Given the description of an element on the screen output the (x, y) to click on. 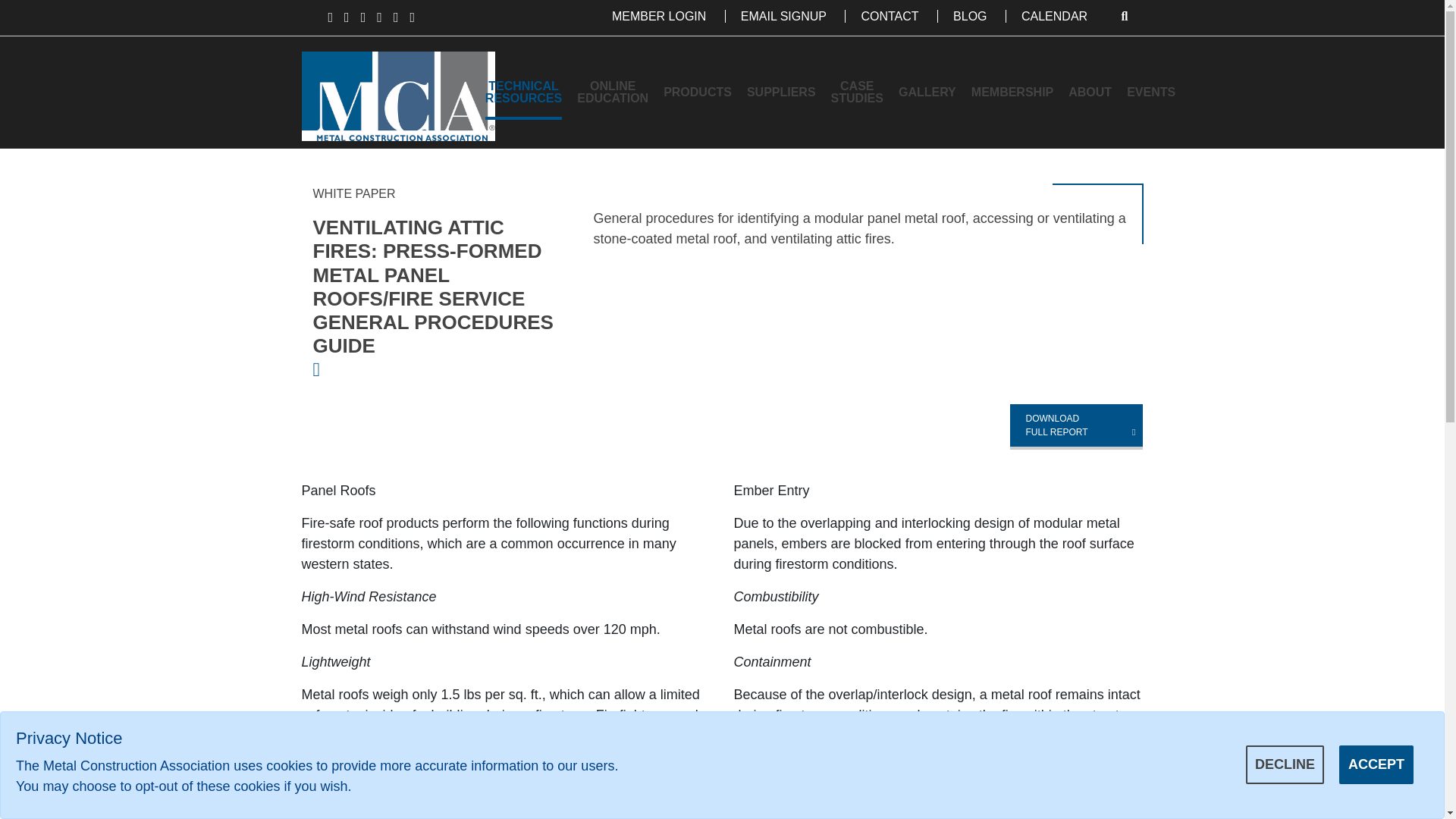
BLOG (969, 15)
EMAIL SIGNUP (783, 15)
PRODUCTS (697, 92)
GALLERY (927, 92)
Search (1124, 15)
MEMBER LOGIN (658, 15)
CONTACT (888, 15)
CALENDAR (1054, 15)
CASE STUDIES (857, 92)
SUPPLIERS (780, 92)
